Given the description of an element on the screen output the (x, y) to click on. 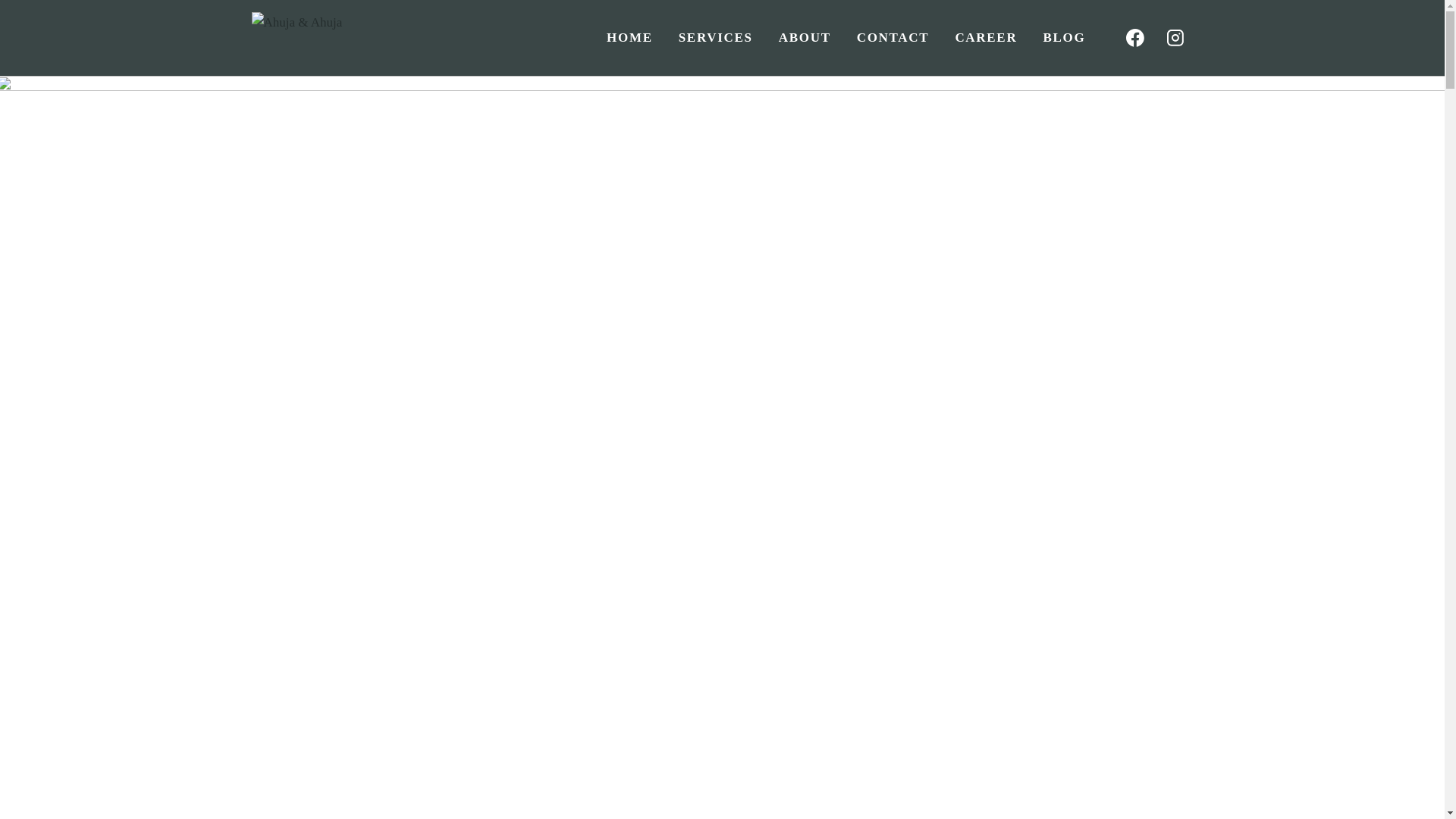
SERVICES (715, 37)
BLOG (1063, 37)
CONTACT (893, 37)
HOME (629, 37)
CAREER (985, 37)
ABOUT (804, 37)
